Given the description of an element on the screen output the (x, y) to click on. 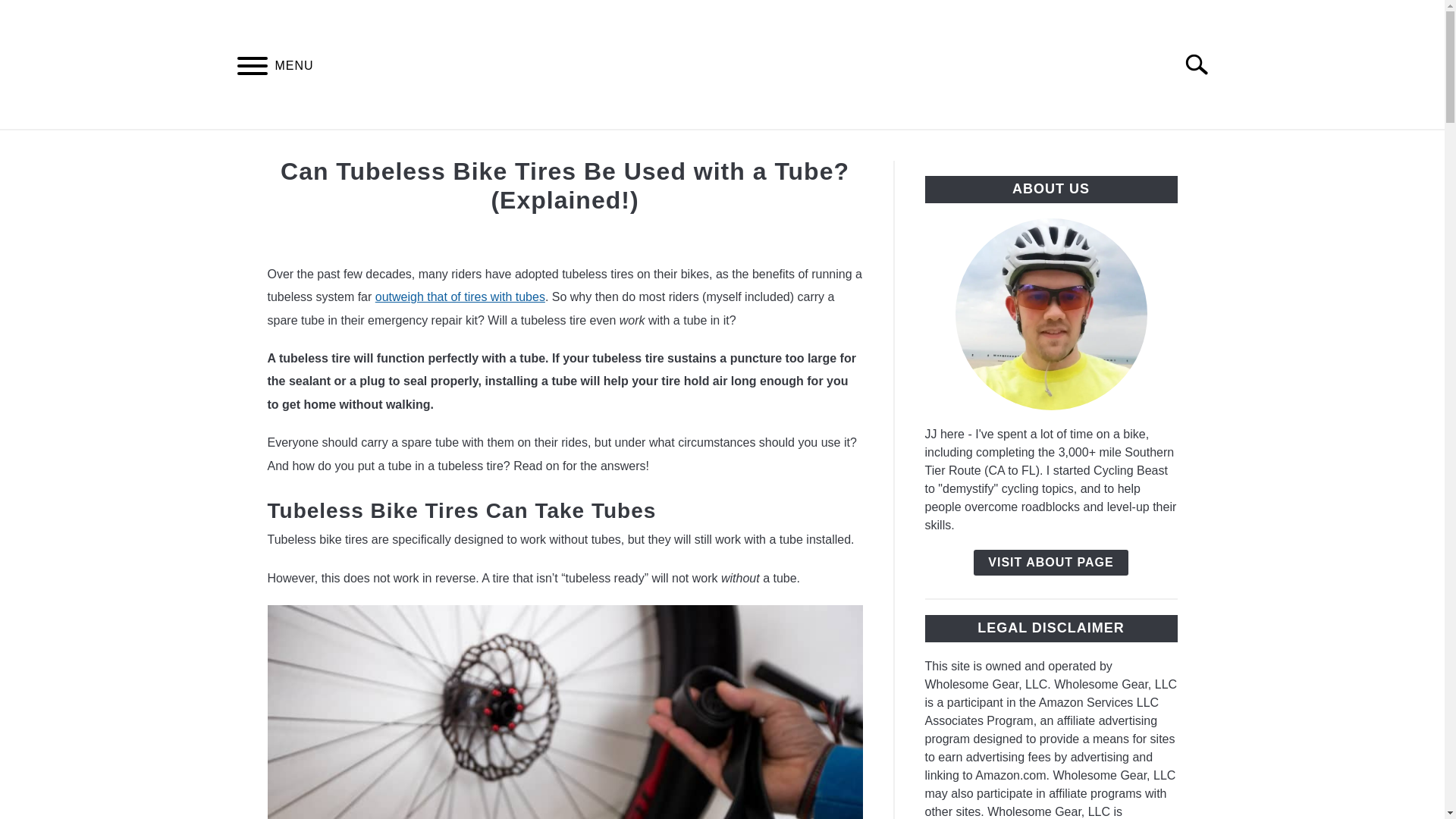
VISIT ABOUT PAGE (1050, 562)
Search (1203, 63)
outweigh that of tires with tubes (459, 296)
MENU (251, 68)
